Given the description of an element on the screen output the (x, y) to click on. 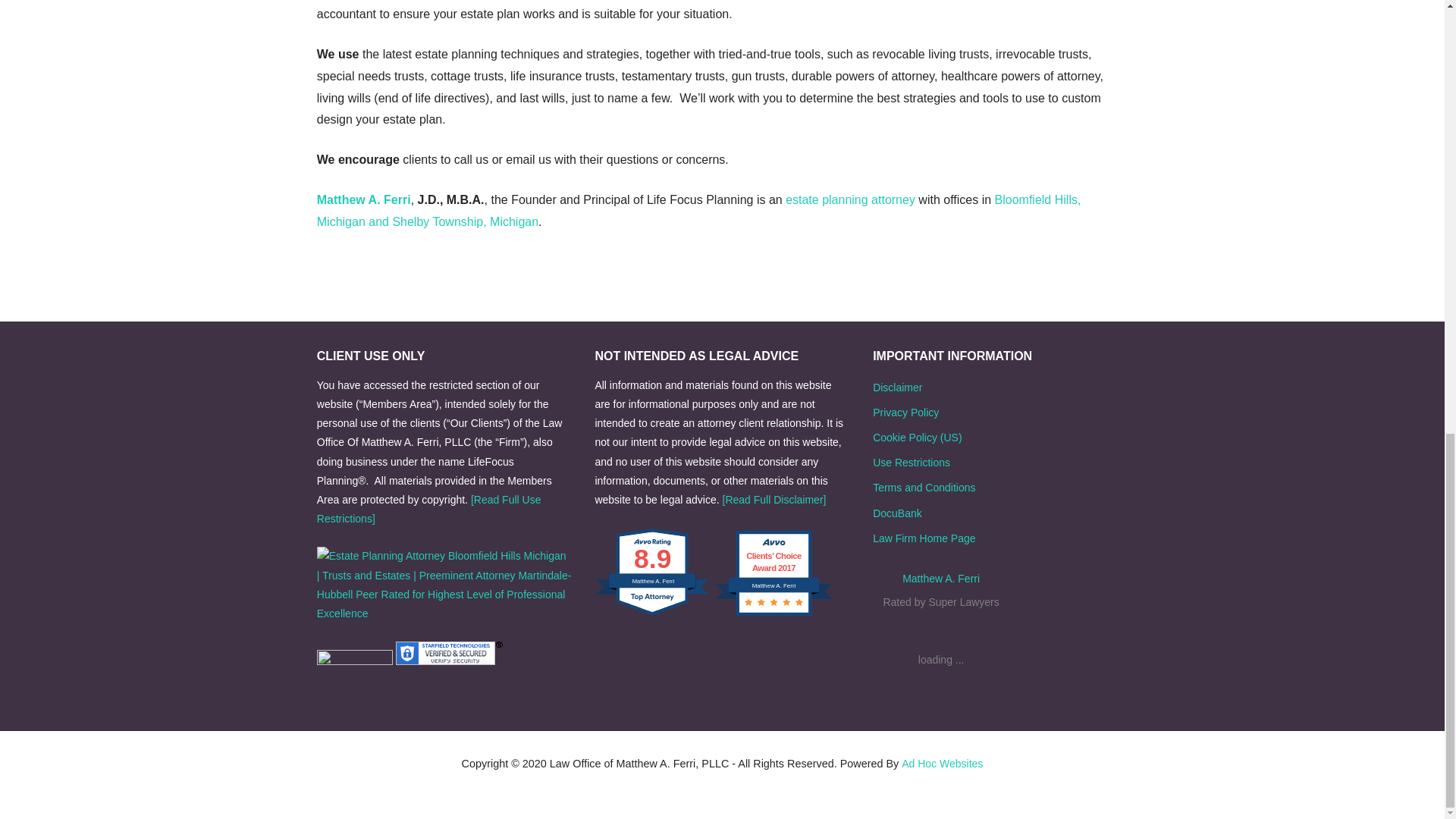
Terms and Conditions (923, 487)
Disclaimer (896, 387)
Matthew A. Ferri (363, 199)
Bloomfield Hills, Michigan and Shelby Township, Michigan (699, 210)
Law Firm Home Page (923, 538)
estate planning attorney (850, 199)
Privacy Policy (905, 412)
Use Restrictions (911, 462)
DocuBank (896, 512)
Matthew A. Ferri (940, 578)
